Given the description of an element on the screen output the (x, y) to click on. 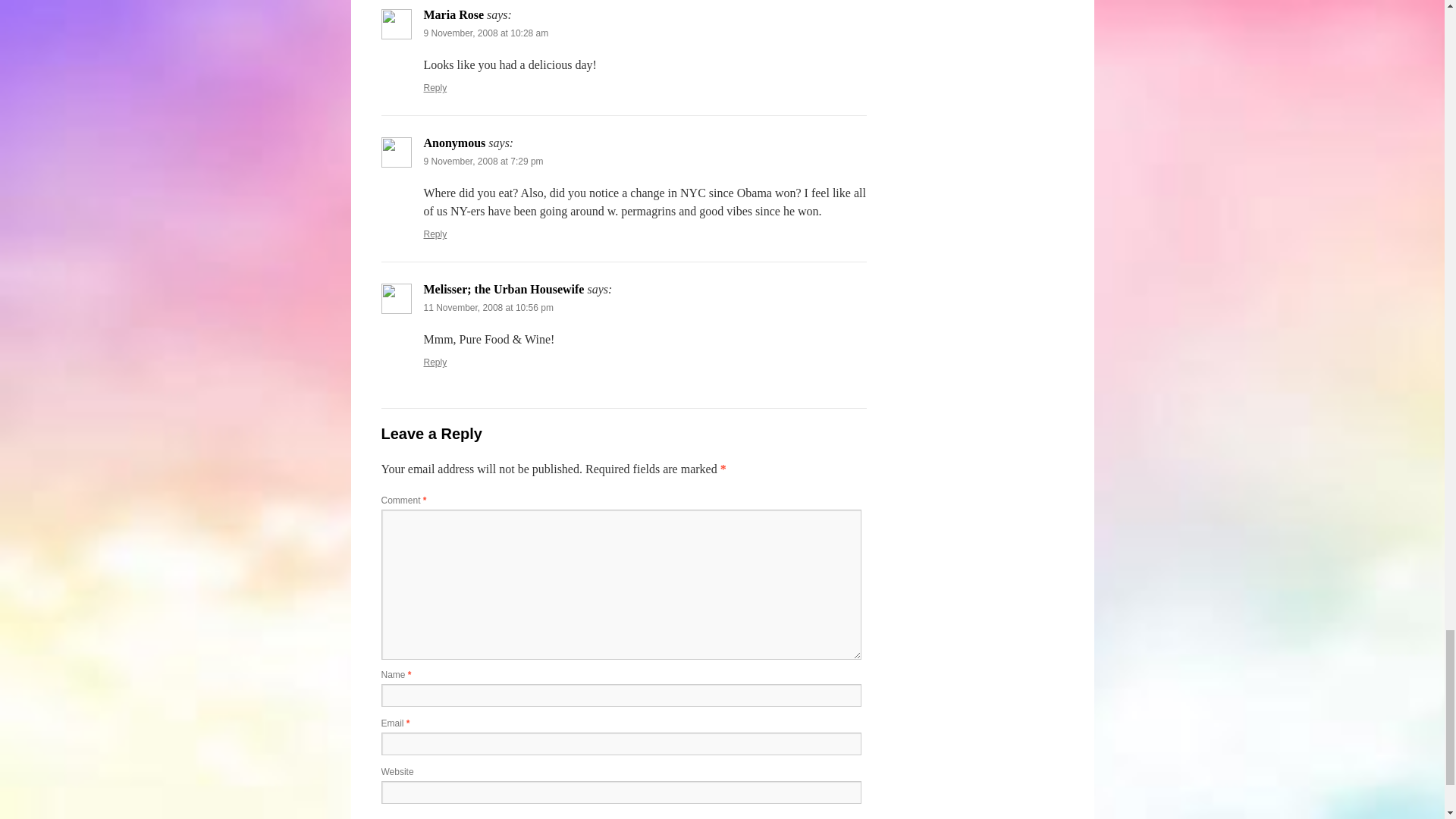
11 November, 2008 at 10:56 pm (488, 307)
Reply (434, 234)
Reply (434, 87)
9 November, 2008 at 7:29 pm (483, 161)
9 November, 2008 at 10:28 am (485, 32)
Reply (434, 362)
